Given the description of an element on the screen output the (x, y) to click on. 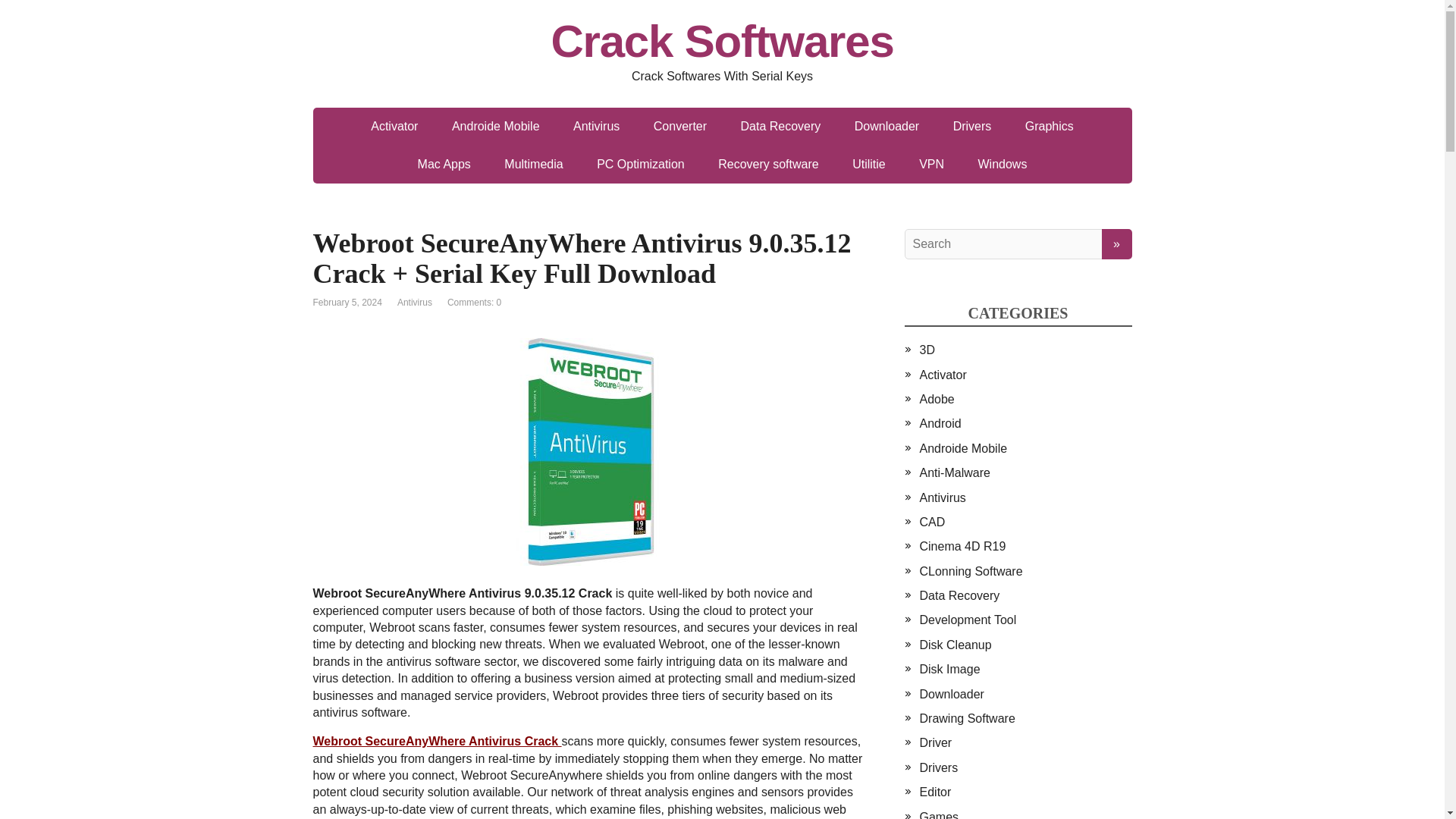
Mac Apps (444, 164)
Windows (1002, 164)
Graphics (1049, 126)
Antivirus (414, 302)
Drivers (972, 126)
VPN (931, 164)
Webroot SecureAnyWhere Antivirus Crack (436, 740)
Activator (393, 126)
Utilitie (869, 164)
Downloader (887, 126)
PC Optimization (640, 164)
Antivirus (595, 126)
Multimedia (533, 164)
Data Recovery (780, 126)
Recovery software (768, 164)
